Given the description of an element on the screen output the (x, y) to click on. 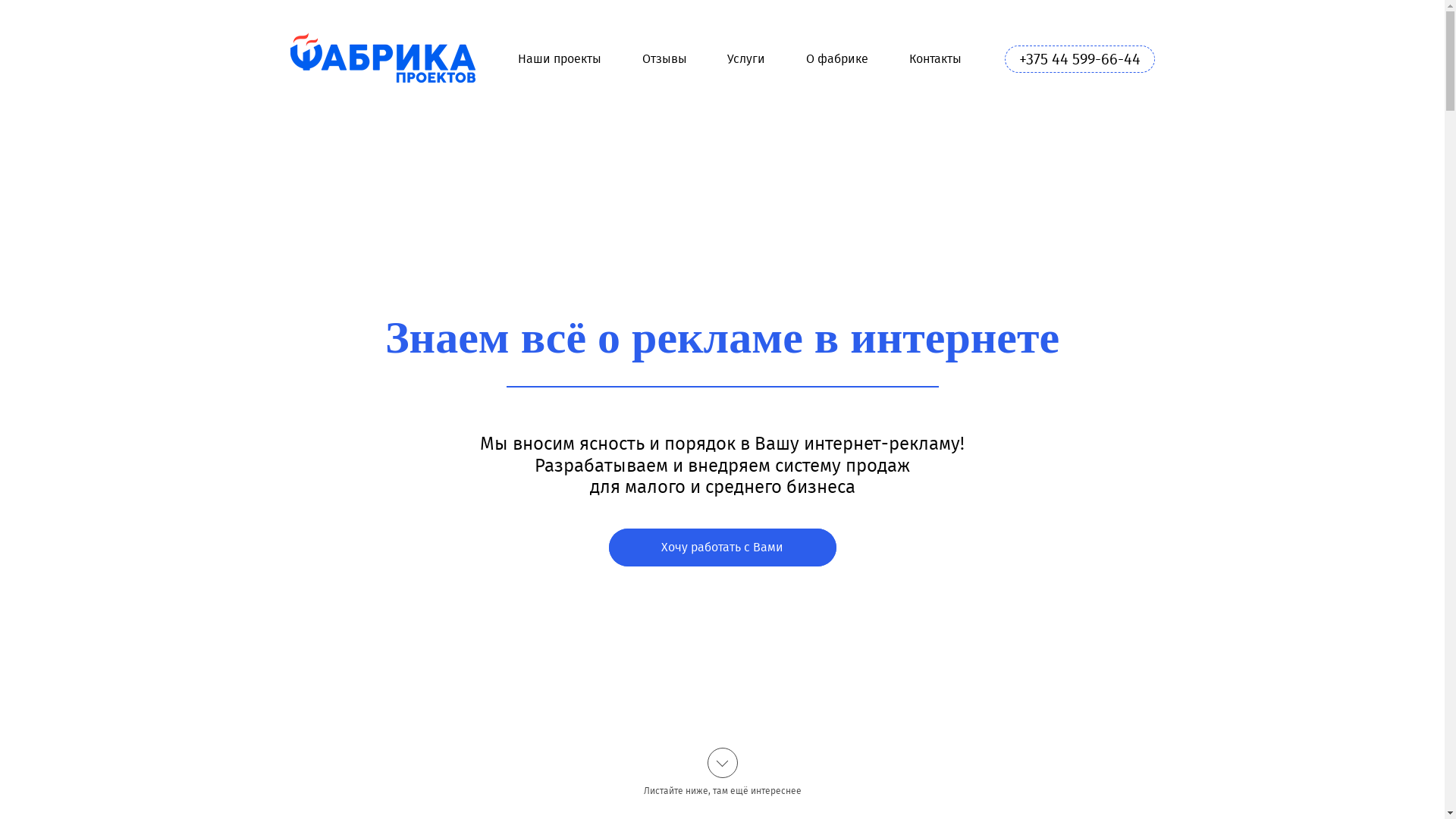
+375 44 599-66-44 Element type: text (1079, 58)
